Given the description of an element on the screen output the (x, y) to click on. 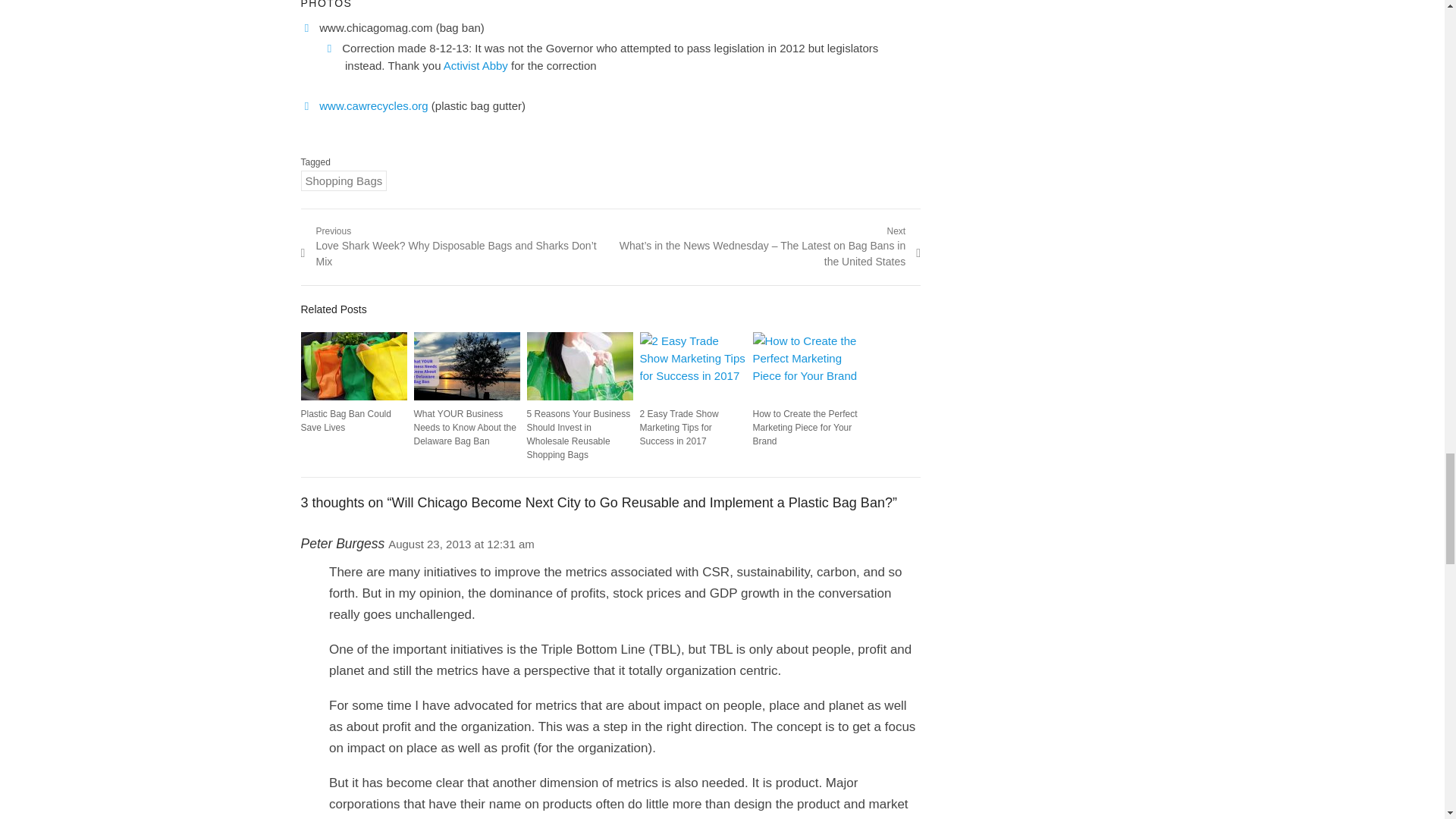
Plastic Bag Ban Could Save Lives (344, 420)
2 Easy Trade Show Marketing Tips for Success in 2017 (692, 366)
2 Easy Trade Show Marketing Tips for Success in 2017 (679, 427)
How to Create the Perfect Marketing Piece for Your Brand (805, 366)
How to Create the Perfect Marketing Piece for Your Brand (804, 427)
Plastic Bag Ban Could Save Lives (352, 366)
What YOUR Business Needs to Know About the Delaware Bag Ban (466, 366)
What YOUR Business Needs to Know About the Delaware Bag Ban (464, 427)
